Given the description of an element on the screen output the (x, y) to click on. 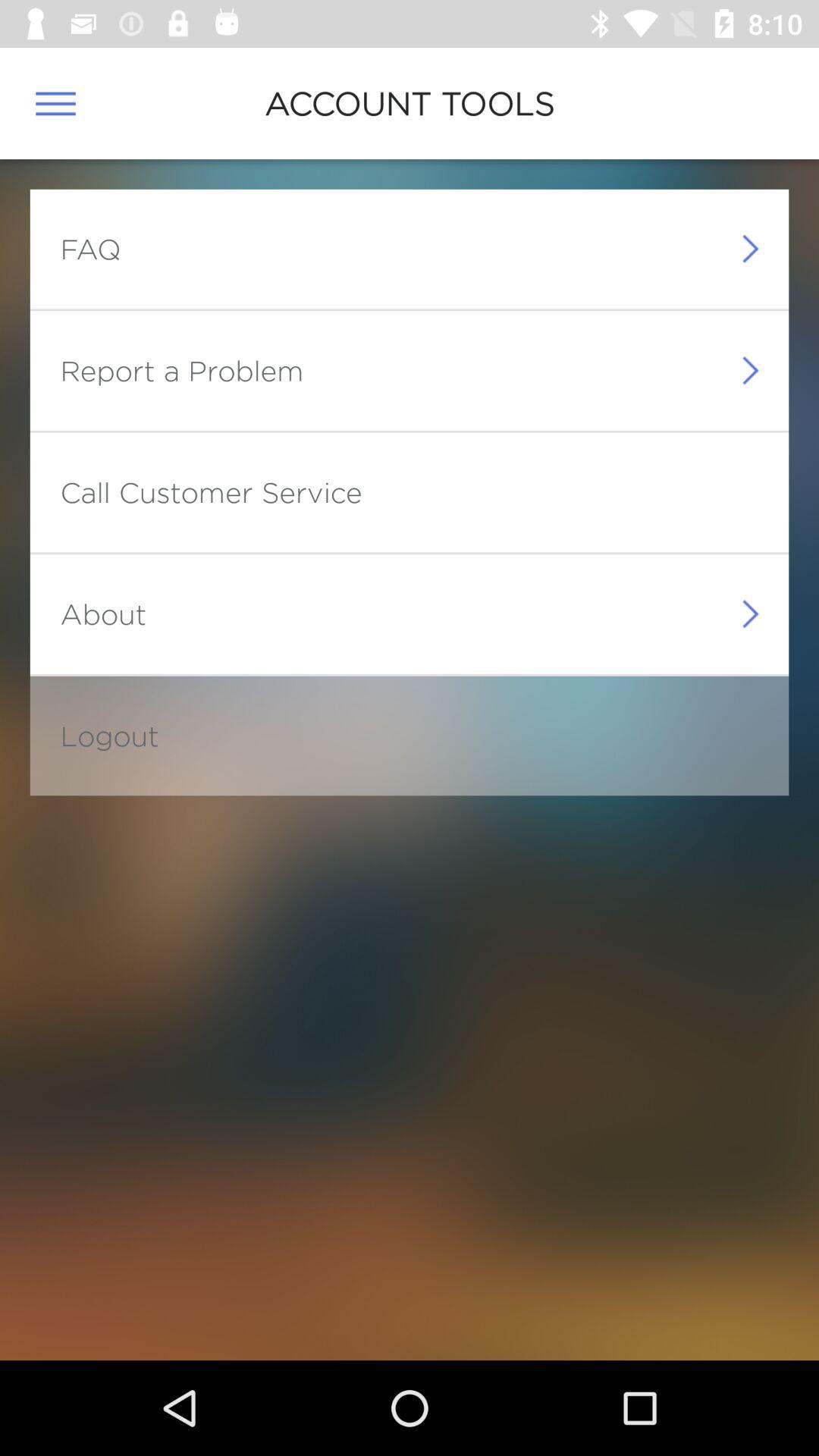
jump to report a problem icon (181, 370)
